Given the description of an element on the screen output the (x, y) to click on. 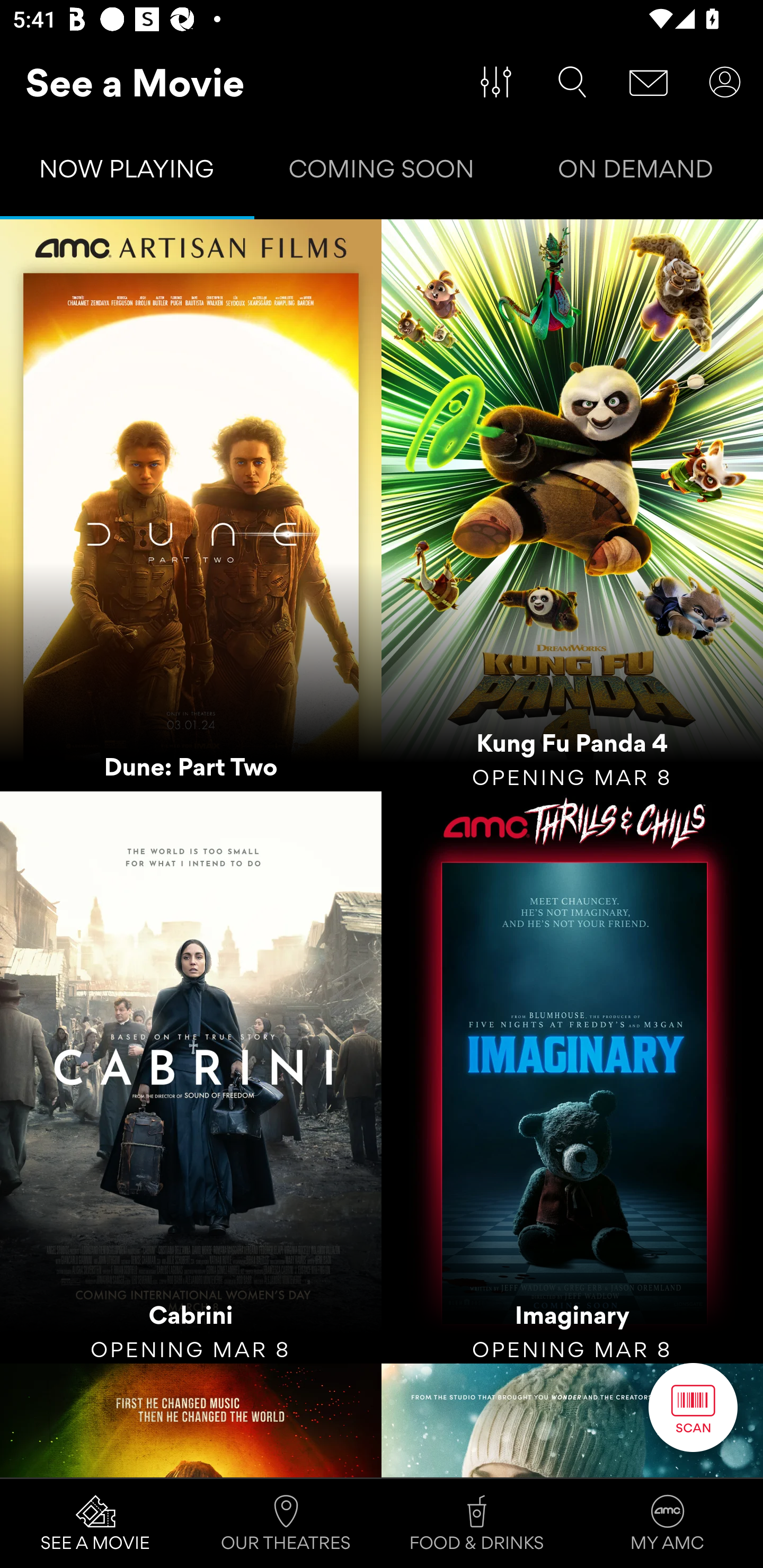
Filter Movies (495, 82)
Search (572, 82)
Message Center (648, 82)
User Account (724, 82)
NOW PLAYING
Tab 1 of 3 (127, 173)
COMING SOON
Tab 2 of 3 (381, 173)
ON DEMAND
Tab 3 of 3 (635, 173)
Dune: Part Two (190, 505)
Kung Fu Panda 4
OPENING MAR 8 (572, 505)
Cabrini
OPENING MAR 8 (190, 1077)
Imaginary
OPENING MAR 8 (572, 1077)
Scan Button (692, 1406)
SEE A MOVIE
Tab 1 of 4 (95, 1523)
OUR THEATRES
Tab 2 of 4 (285, 1523)
FOOD & DRINKS
Tab 3 of 4 (476, 1523)
MY AMC
Tab 4 of 4 (667, 1523)
